Given the description of an element on the screen output the (x, y) to click on. 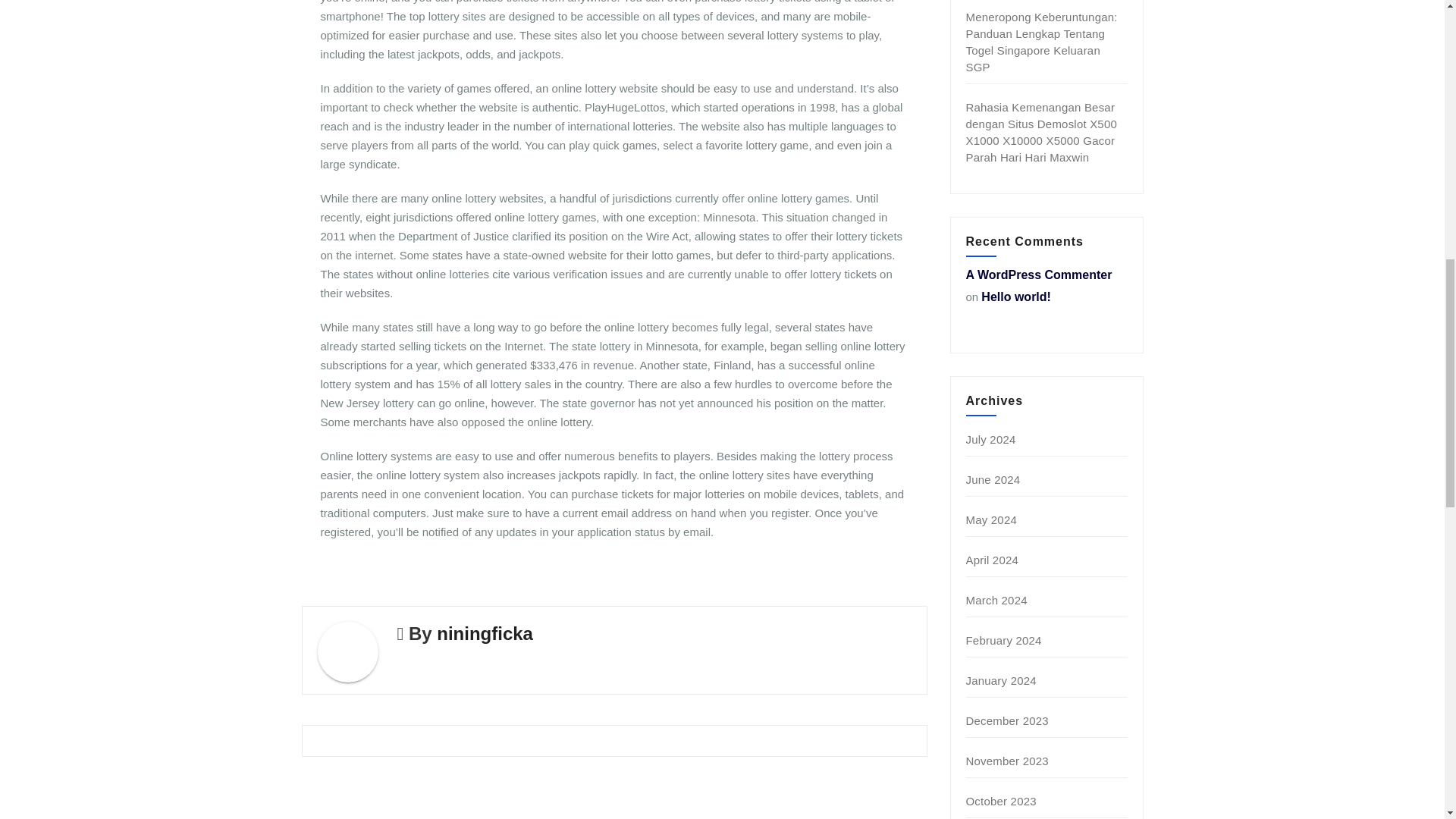
Hello world! (1016, 296)
niningficka (484, 633)
March 2024 (996, 599)
June 2024 (993, 479)
December 2023 (1007, 720)
May 2024 (991, 519)
October 2023 (1001, 800)
July 2024 (991, 439)
A WordPress Commenter (1039, 274)
November 2023 (1007, 760)
February 2024 (1004, 640)
April 2024 (992, 559)
January 2024 (1001, 680)
